Given the description of an element on the screen output the (x, y) to click on. 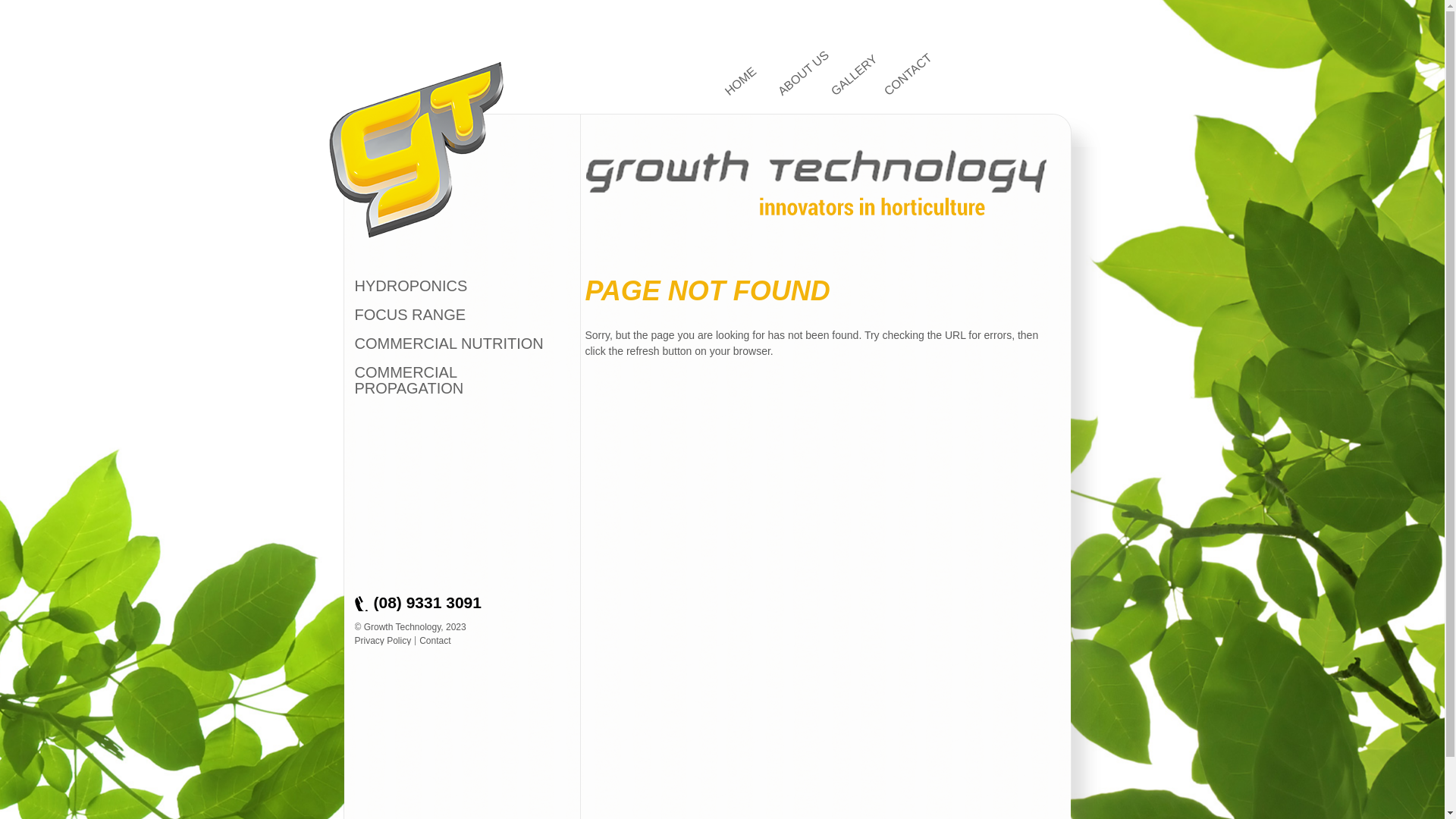
Contact Element type: text (434, 640)
Privacy Policy Element type: text (382, 640)
COMMERCIAL NUTRITION Element type: text (448, 343)
COMMERCIAL PROPAGATION Element type: text (449, 380)
Growth Technology Element type: hover (415, 150)
FOCUS RANGE Element type: text (410, 315)
HYDROPONICS Element type: text (410, 286)
